Given the description of an element on the screen output the (x, y) to click on. 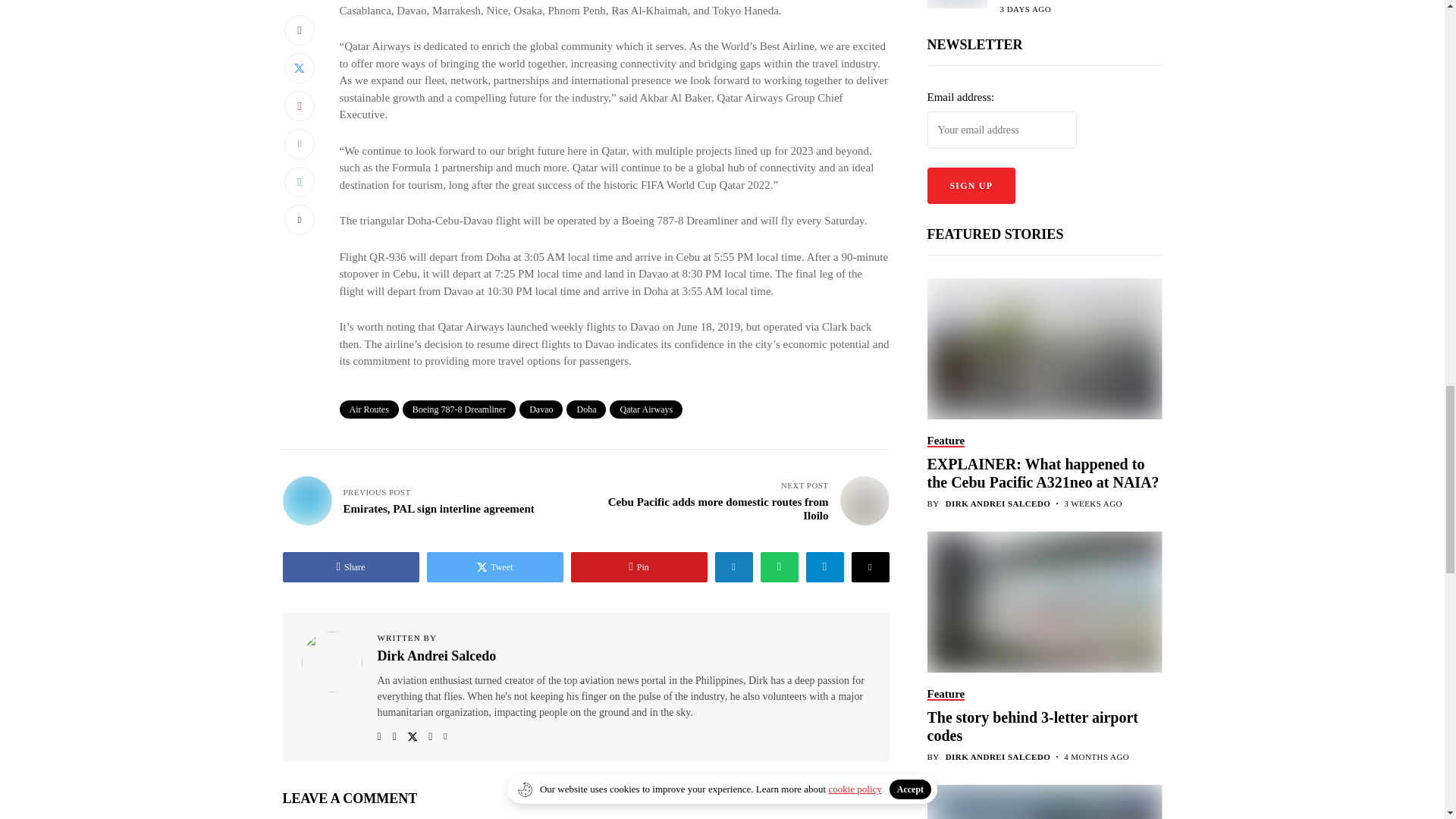
Posts by Dirk Andrei Salcedo (997, 397)
Posts by Dirk Andrei Salcedo (997, 651)
Posts by Dirk Andrei Salcedo (997, 144)
